Given the description of an element on the screen output the (x, y) to click on. 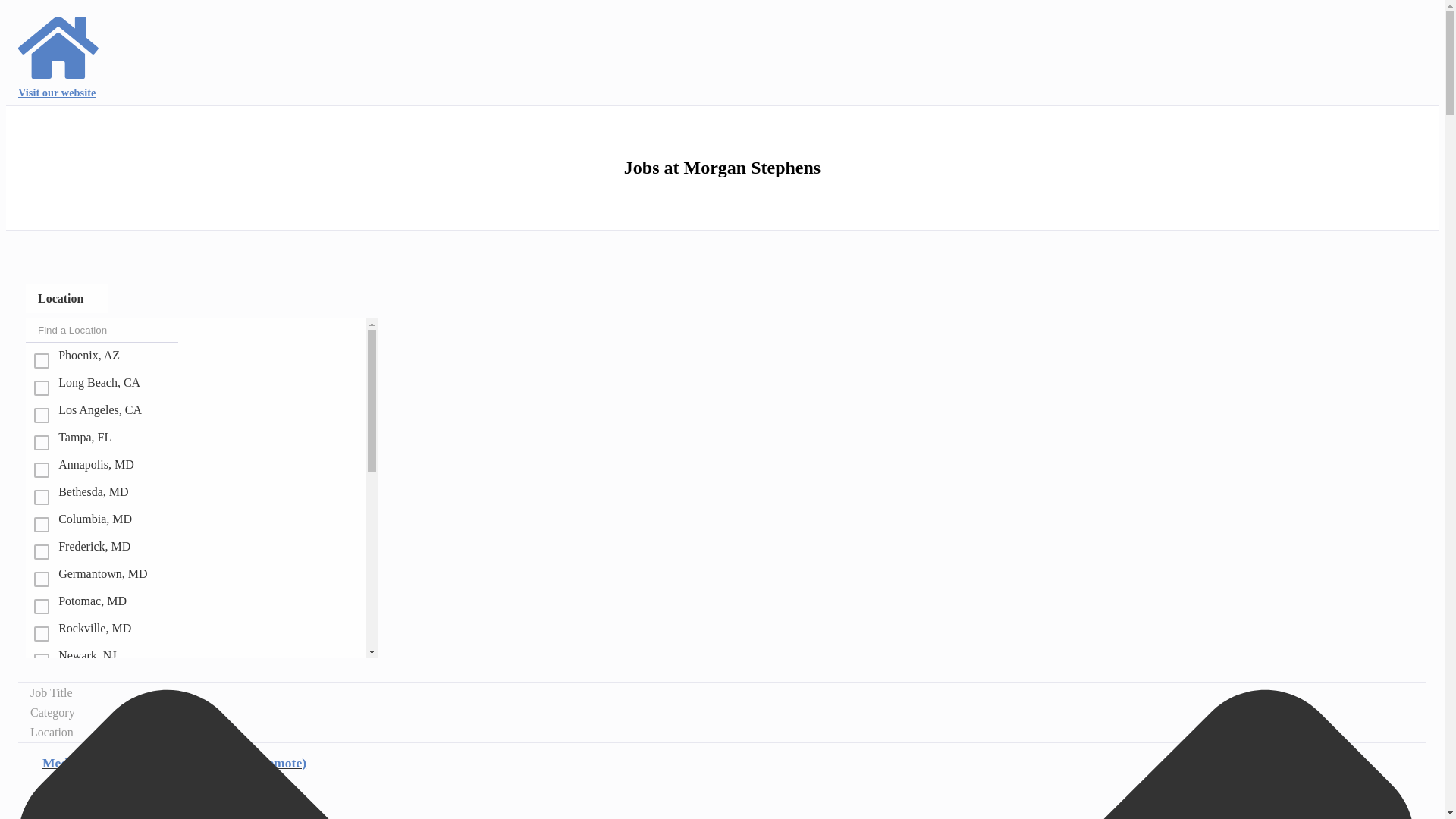
Visit our website (58, 55)
Location (66, 298)
